Given the description of an element on the screen output the (x, y) to click on. 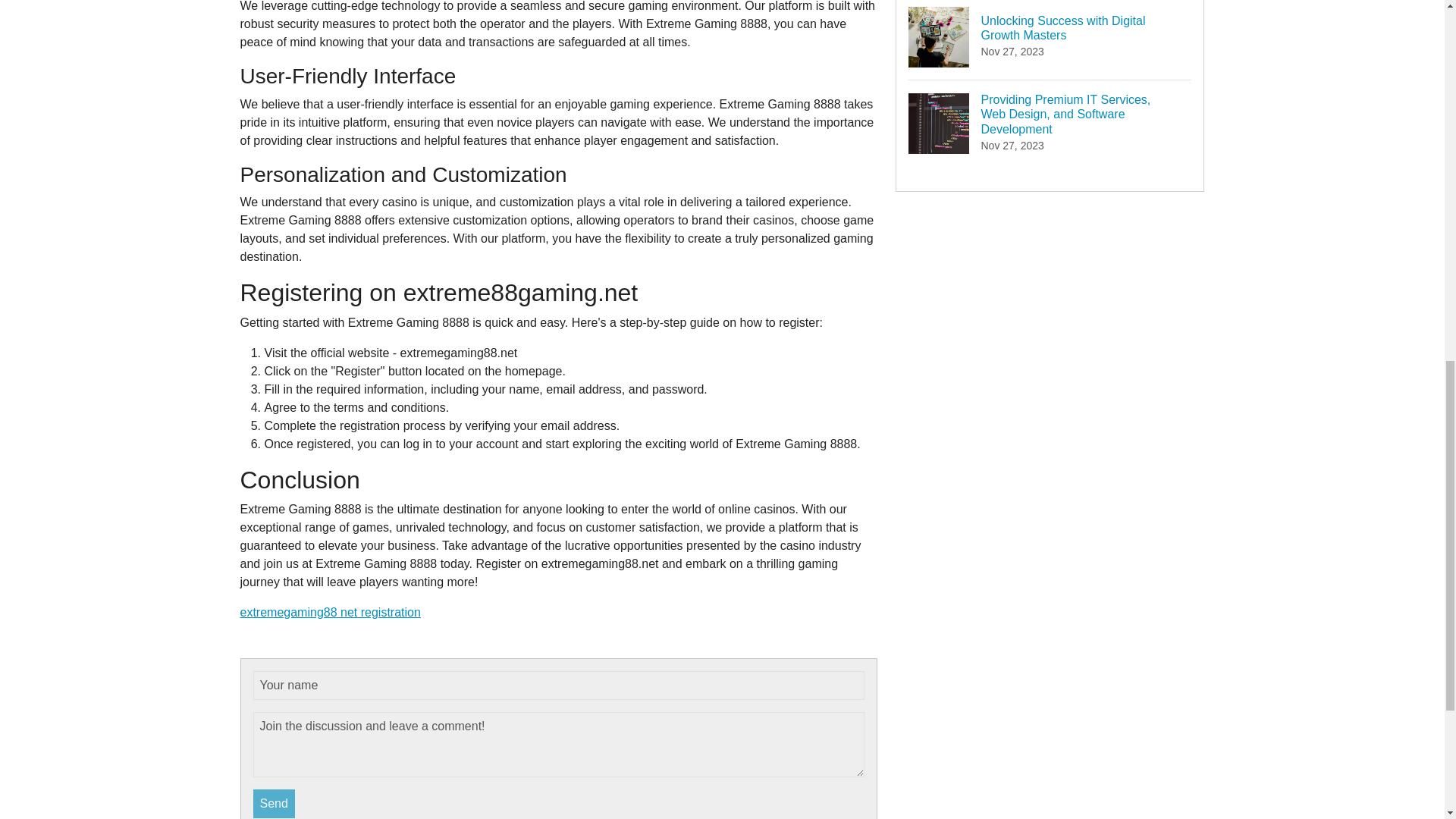
Send (1050, 39)
extremegaming88 net registration (274, 803)
Send (330, 612)
